Given the description of an element on the screen output the (x, y) to click on. 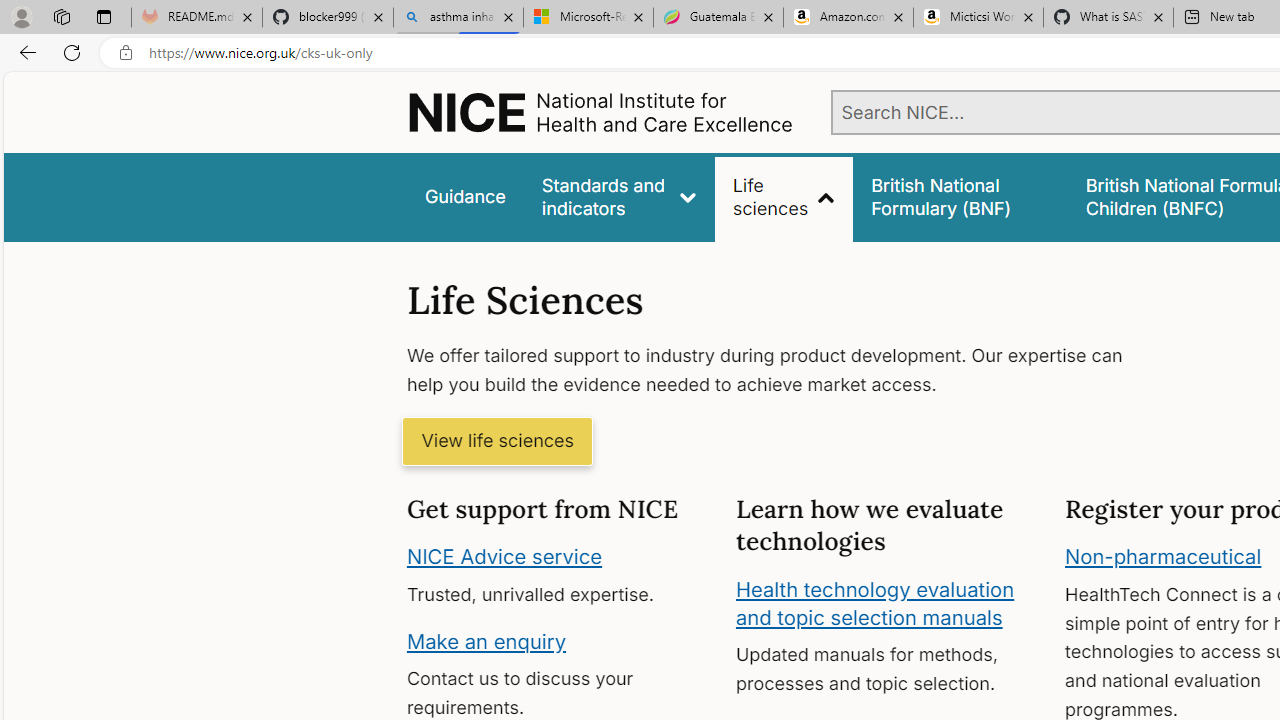
NICE Advice service (503, 557)
Make an enquiry (486, 640)
Guidance (464, 196)
Non-pharmaceutical (1163, 557)
